Given the description of an element on the screen output the (x, y) to click on. 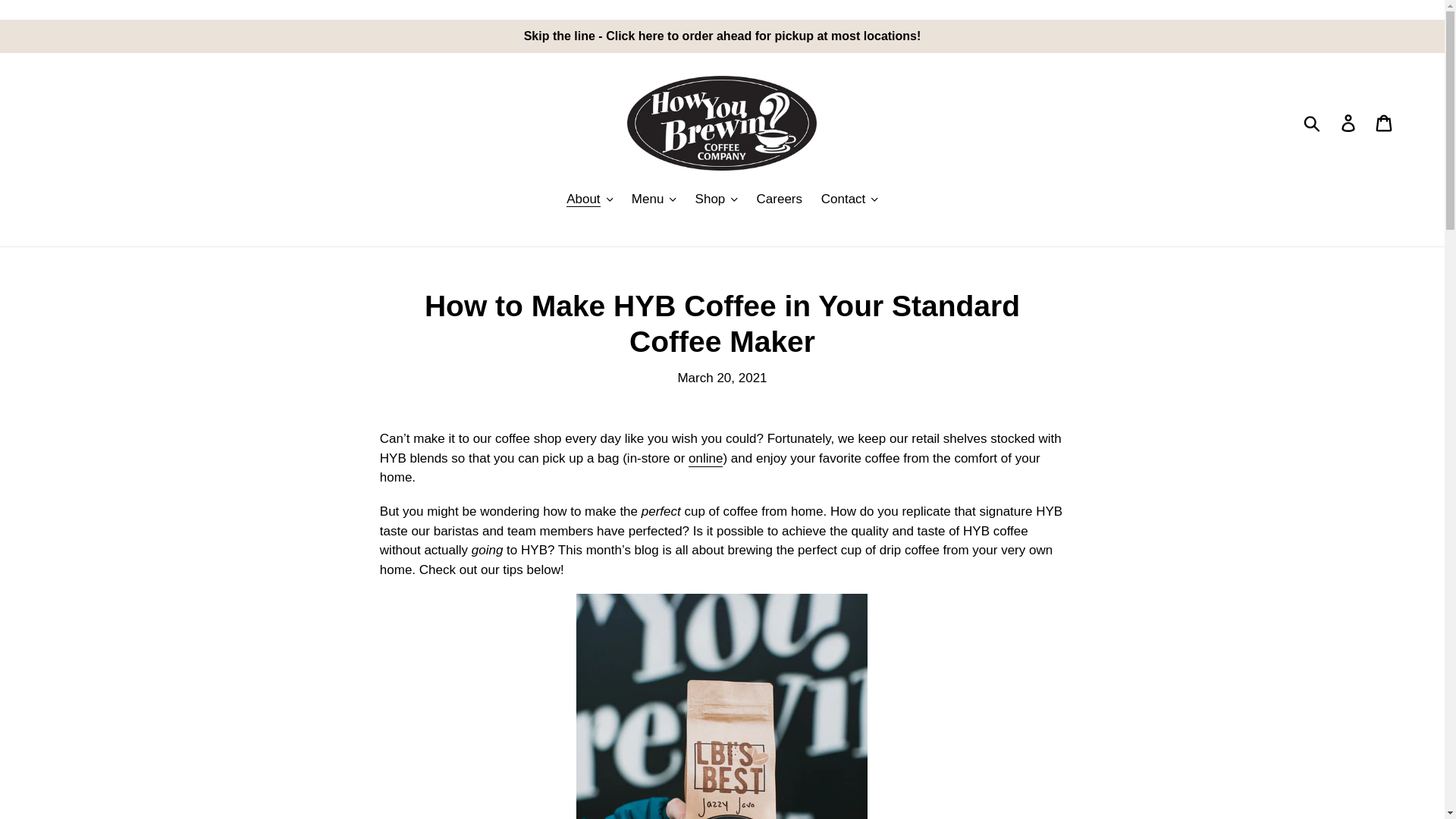
Submit (1313, 122)
Cart (1385, 122)
Log in (1349, 122)
Online coffee store (705, 458)
